Given the description of an element on the screen output the (x, y) to click on. 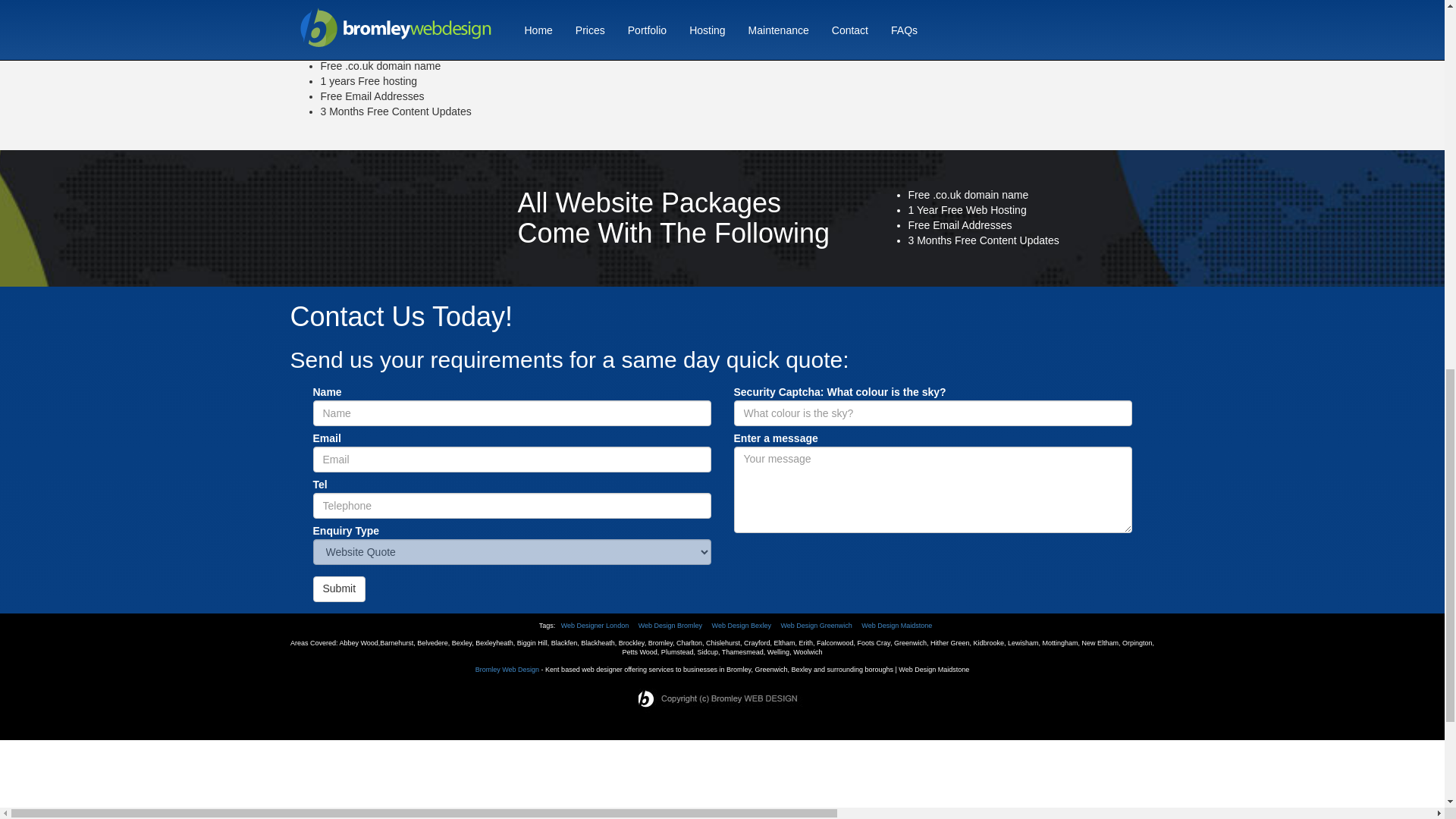
CONTACT US (719, 20)
Submit (339, 588)
Web Design Bexley (741, 625)
Web Designer London (594, 625)
Bromley Web Design (507, 669)
Web Design Bromley (670, 625)
Web Design Maidstone (896, 625)
Web Design Greenwich (815, 625)
